Given the description of an element on the screen output the (x, y) to click on. 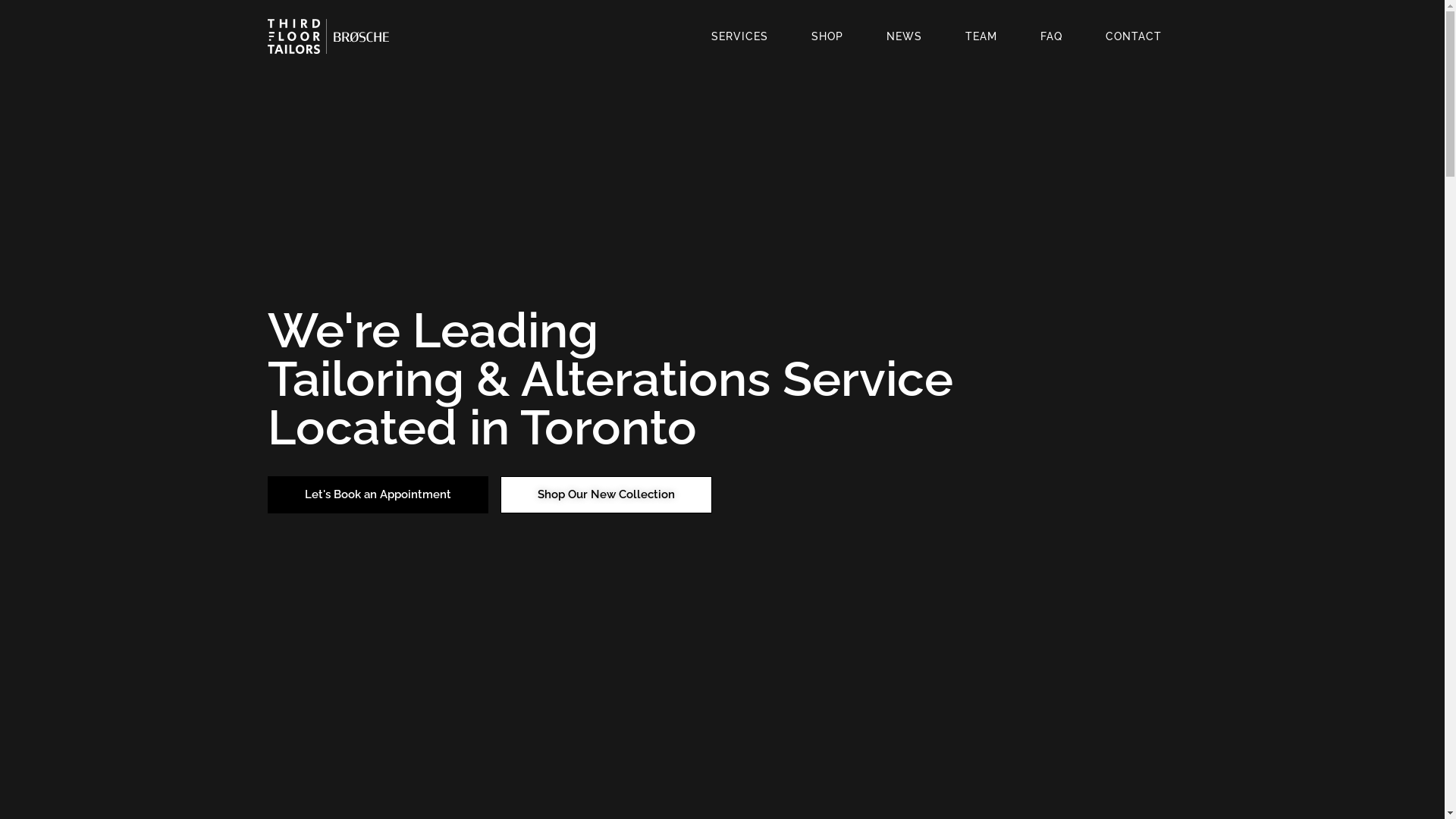
FAQ Element type: text (1050, 36)
SHOP Element type: text (826, 36)
TEAM Element type: text (981, 36)
Shop Our New Collection Element type: text (606, 494)
Let's Book an Appointment Element type: text (376, 494)
CONTACT Element type: text (1132, 36)
SERVICES Element type: text (738, 36)
NEWS Element type: text (904, 36)
